Given the description of an element on the screen output the (x, y) to click on. 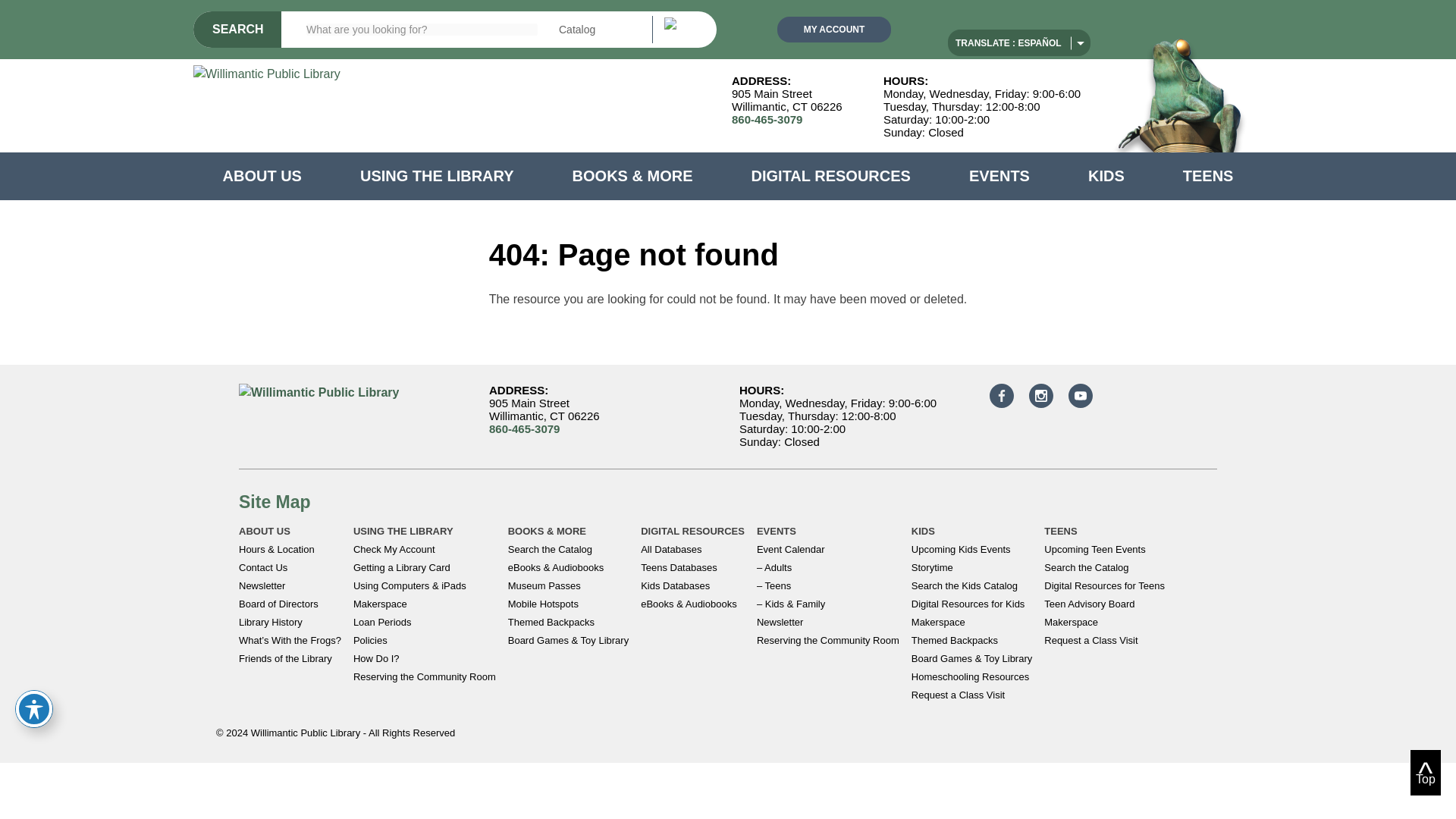
EVENTS (999, 175)
DIGITAL RESOURCES (831, 175)
ABOUT US (262, 175)
860-465-3079 (767, 119)
USING THE LIBRARY (437, 175)
MY ACCOUNT (834, 29)
